Given the description of an element on the screen output the (x, y) to click on. 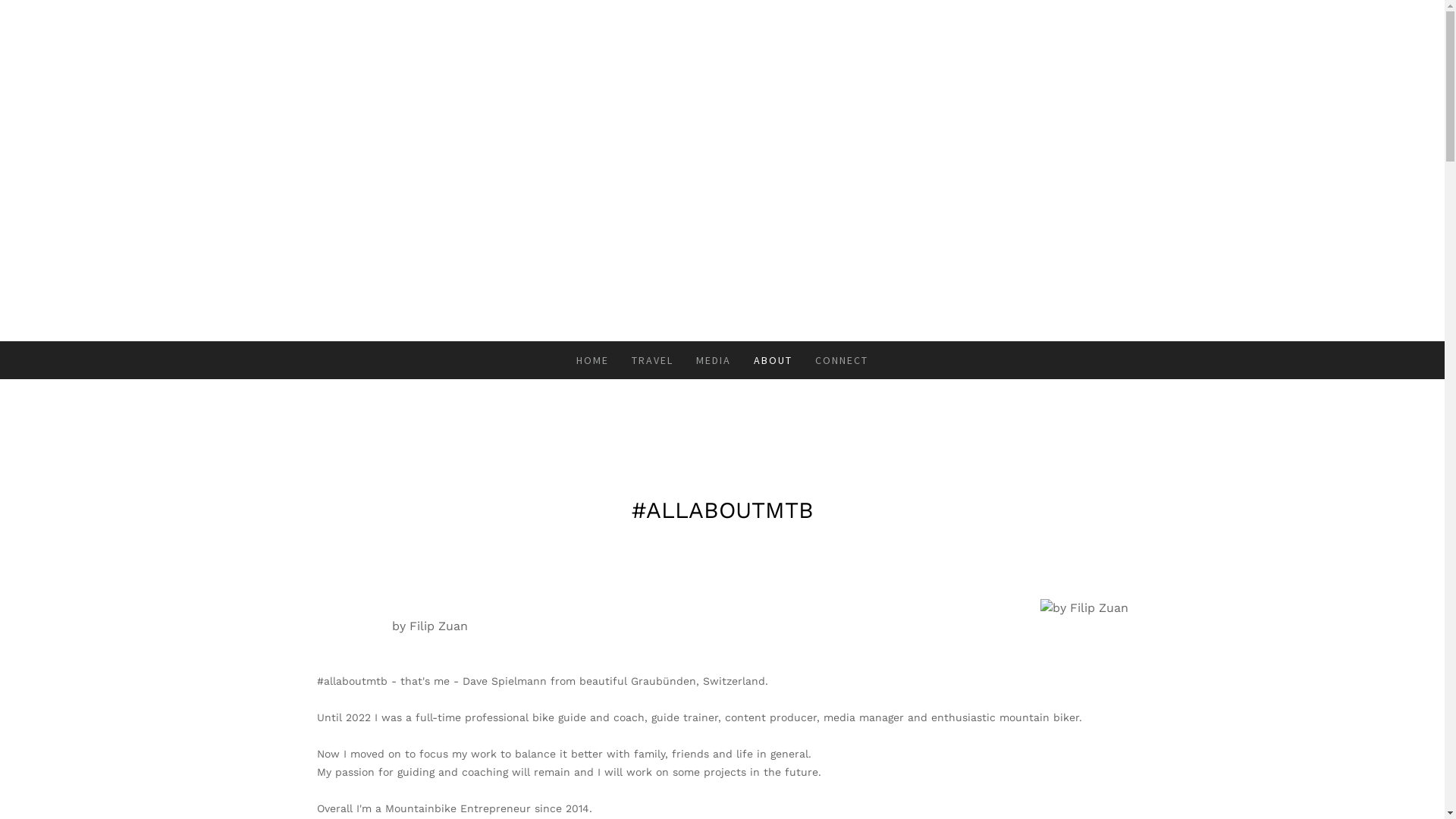
ABOUT Element type: text (772, 360)
MEDIA Element type: text (713, 360)
TRAVEL Element type: text (652, 360)
HOME Element type: text (592, 360)
CONNECT Element type: text (841, 360)
